Given the description of an element on the screen output the (x, y) to click on. 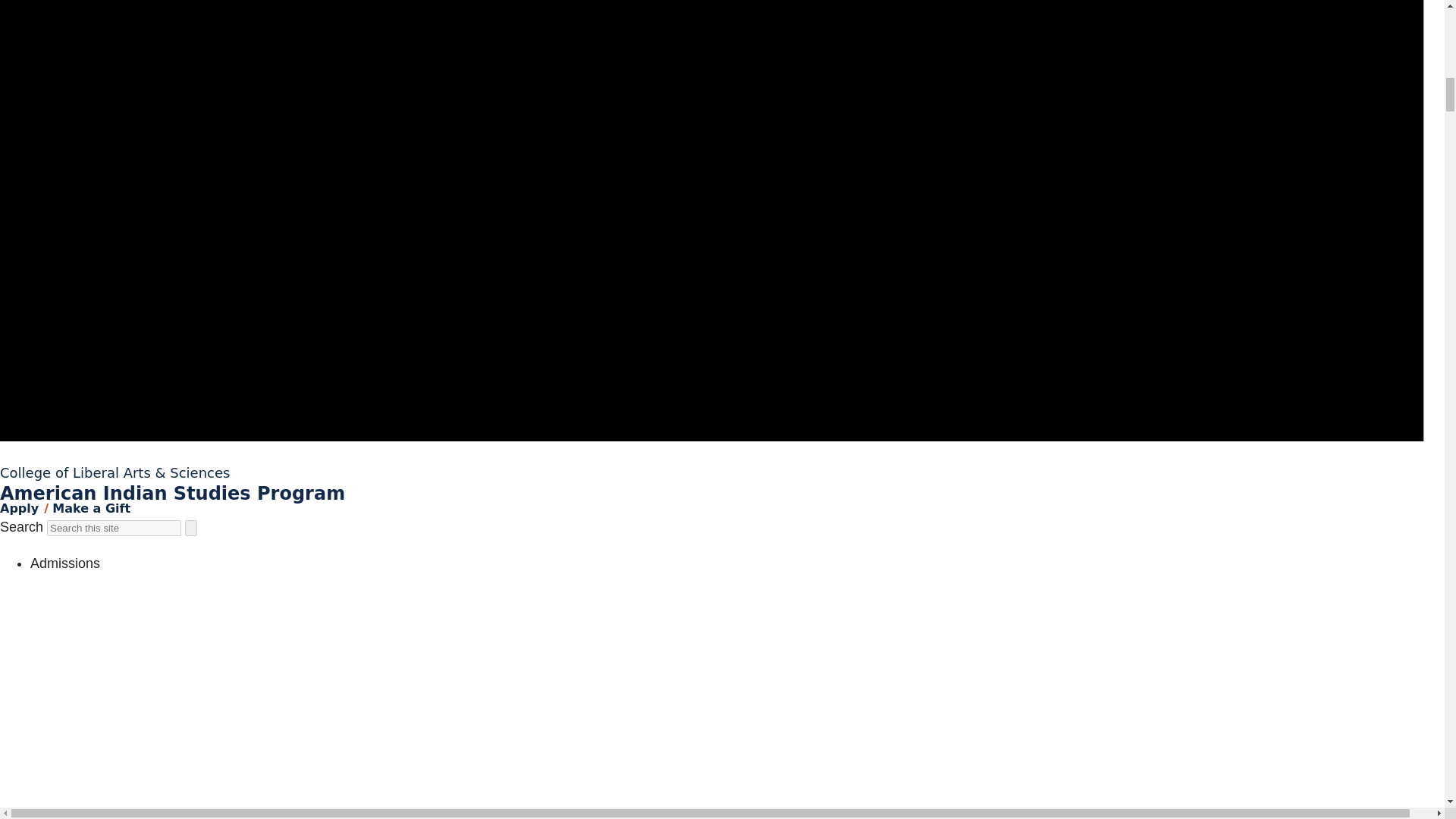
Apply (19, 508)
Admissions (65, 563)
Make a Gift (91, 508)
American Indian Studies Program (172, 493)
